Given the description of an element on the screen output the (x, y) to click on. 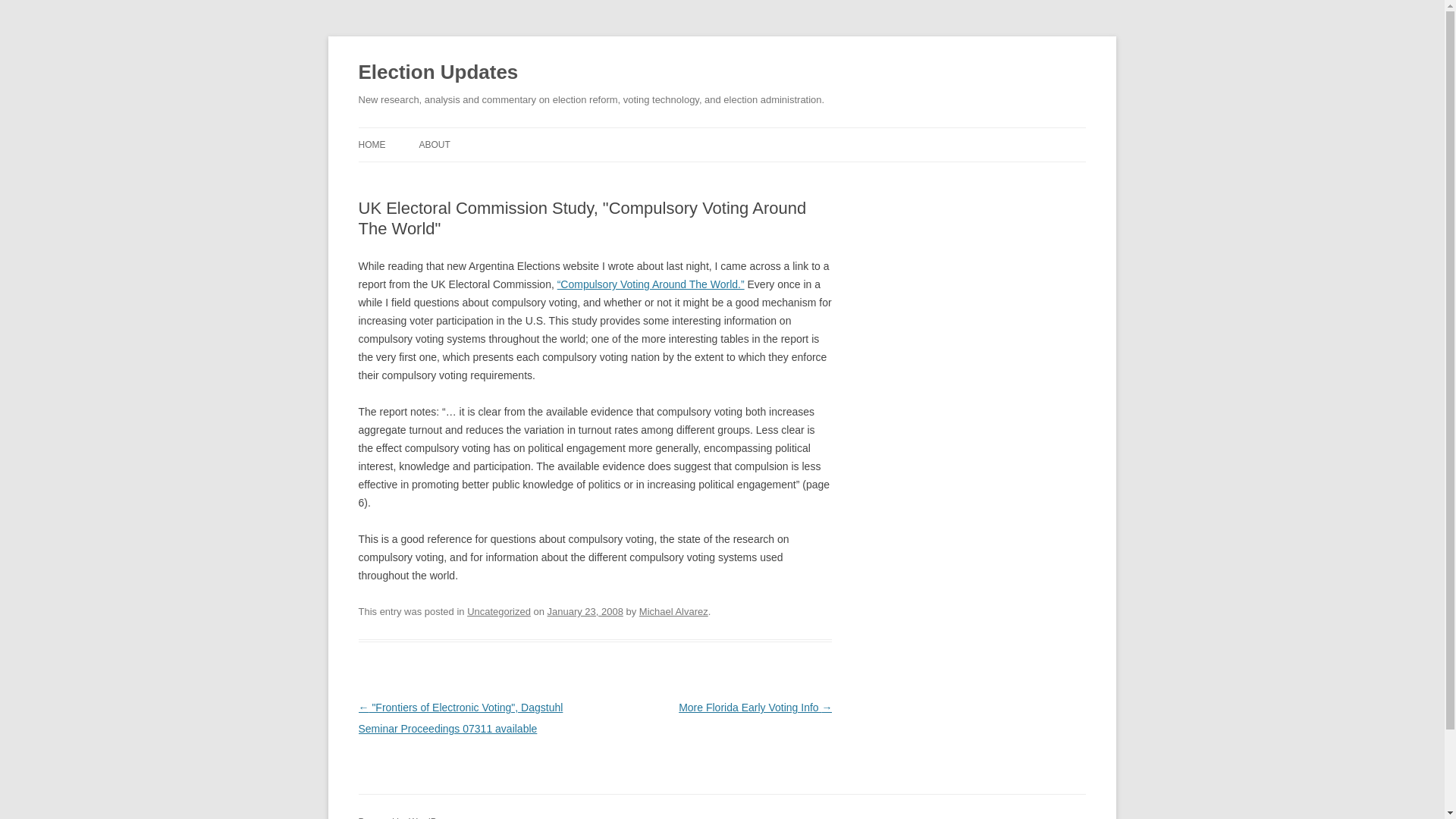
View all posts by Michael Alvarez (673, 611)
Michael Alvarez (673, 611)
Uncategorized (499, 611)
ABOUT (434, 144)
1:25 pm (585, 611)
Election Updates (438, 72)
Powered by WordPress.com (415, 817)
January 23, 2008 (585, 611)
